Given the description of an element on the screen output the (x, y) to click on. 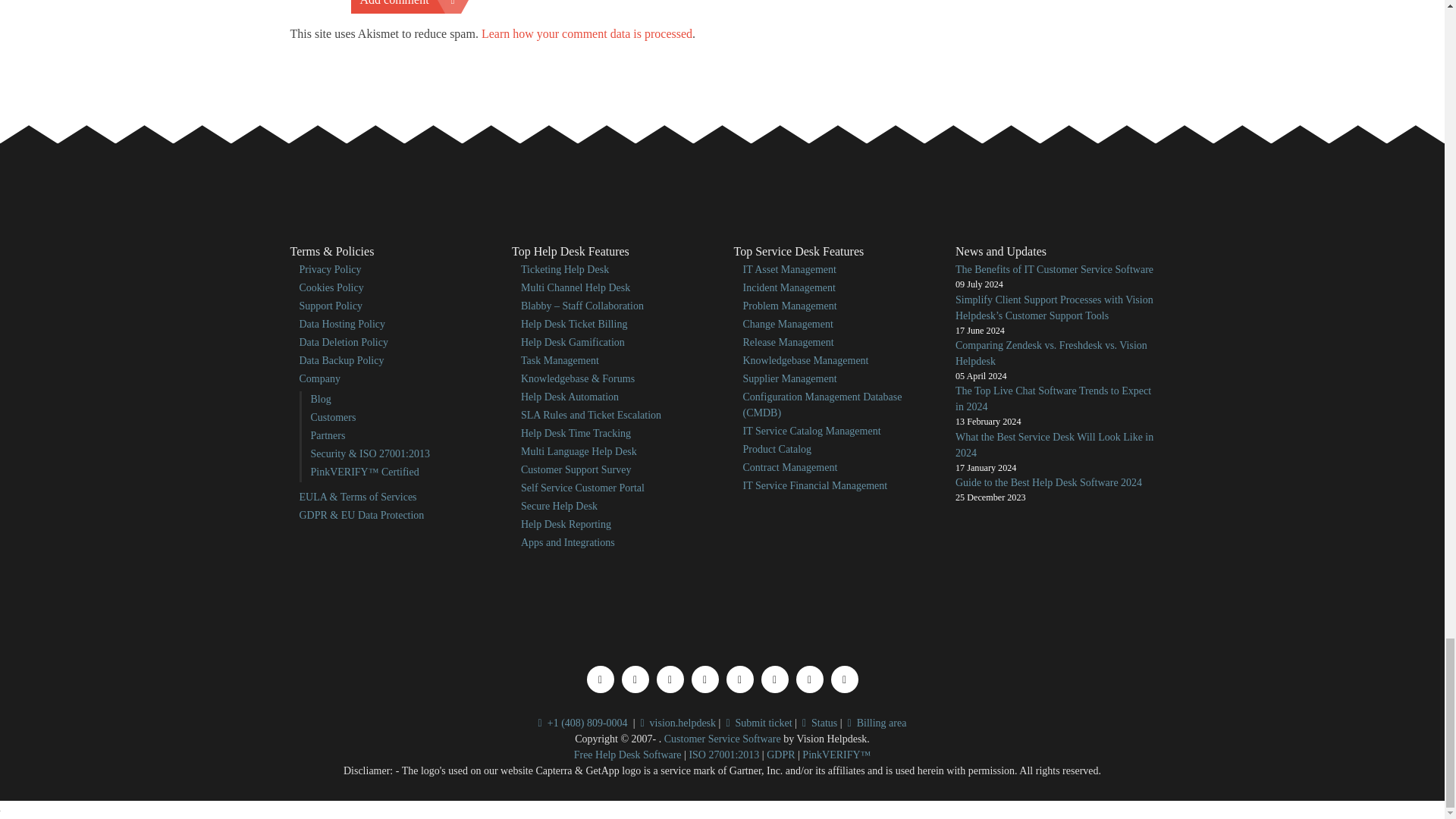
Add comment (405, 6)
Learn how your comment data is processed (587, 33)
